Given the description of an element on the screen output the (x, y) to click on. 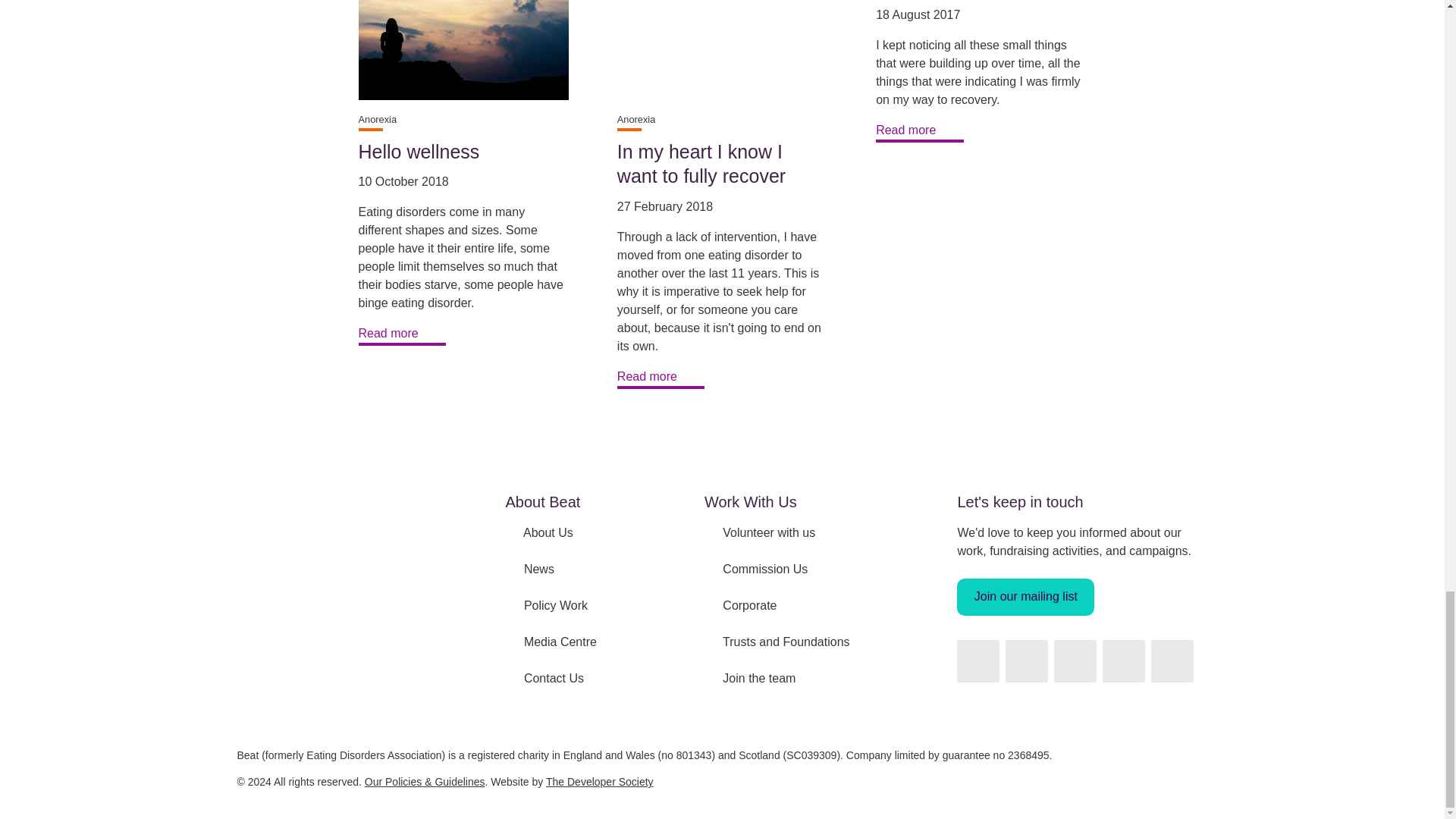
.button--outline (919, 131)
.button--outline (401, 334)
.button--outline (660, 378)
